Given the description of an element on the screen output the (x, y) to click on. 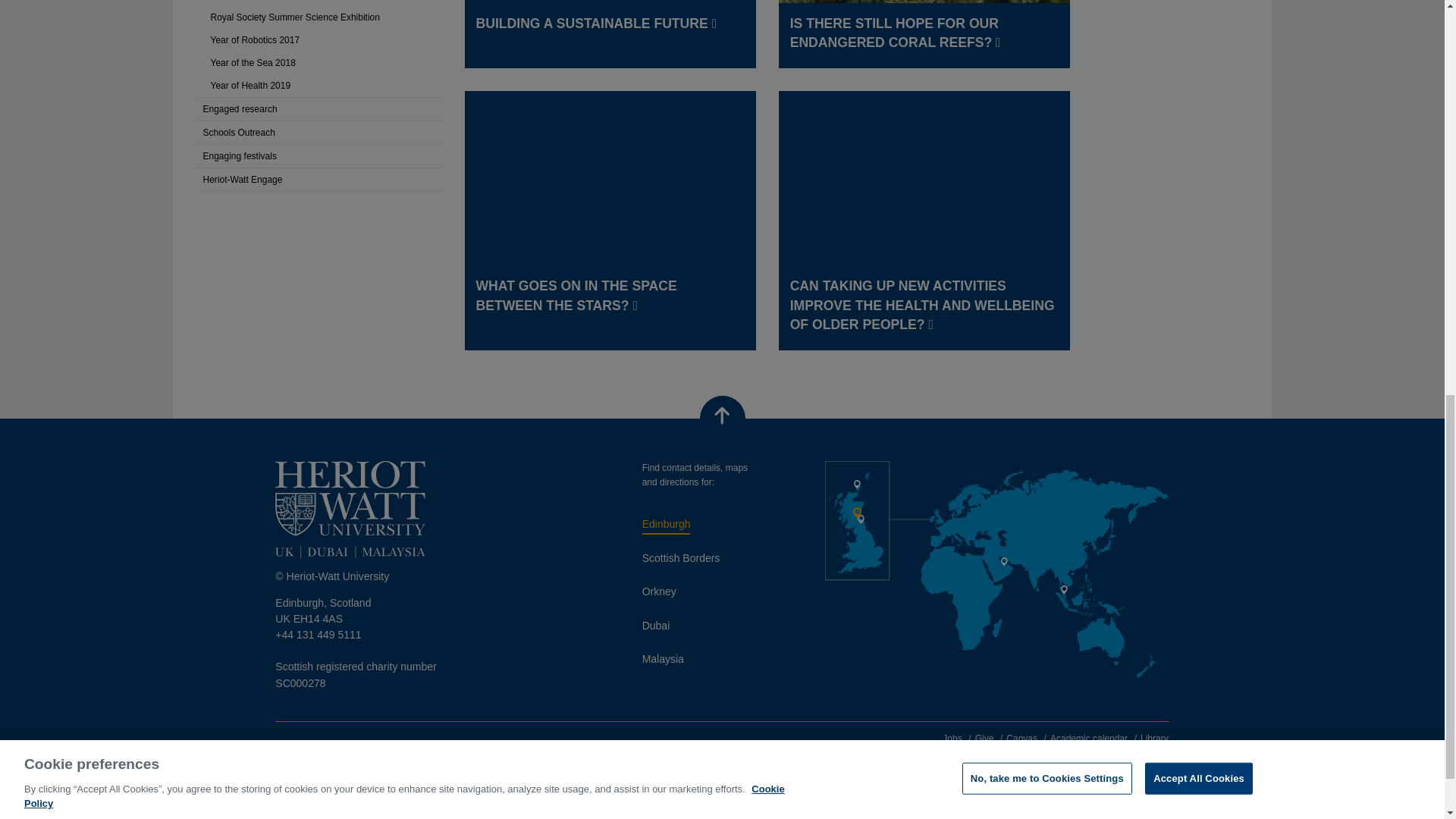
Twitter (376, 752)
LinkedIn (290, 752)
Facebook (334, 752)
YouTube (462, 752)
Instagram (419, 752)
TikTok (505, 752)
